Given the description of an element on the screen output the (x, y) to click on. 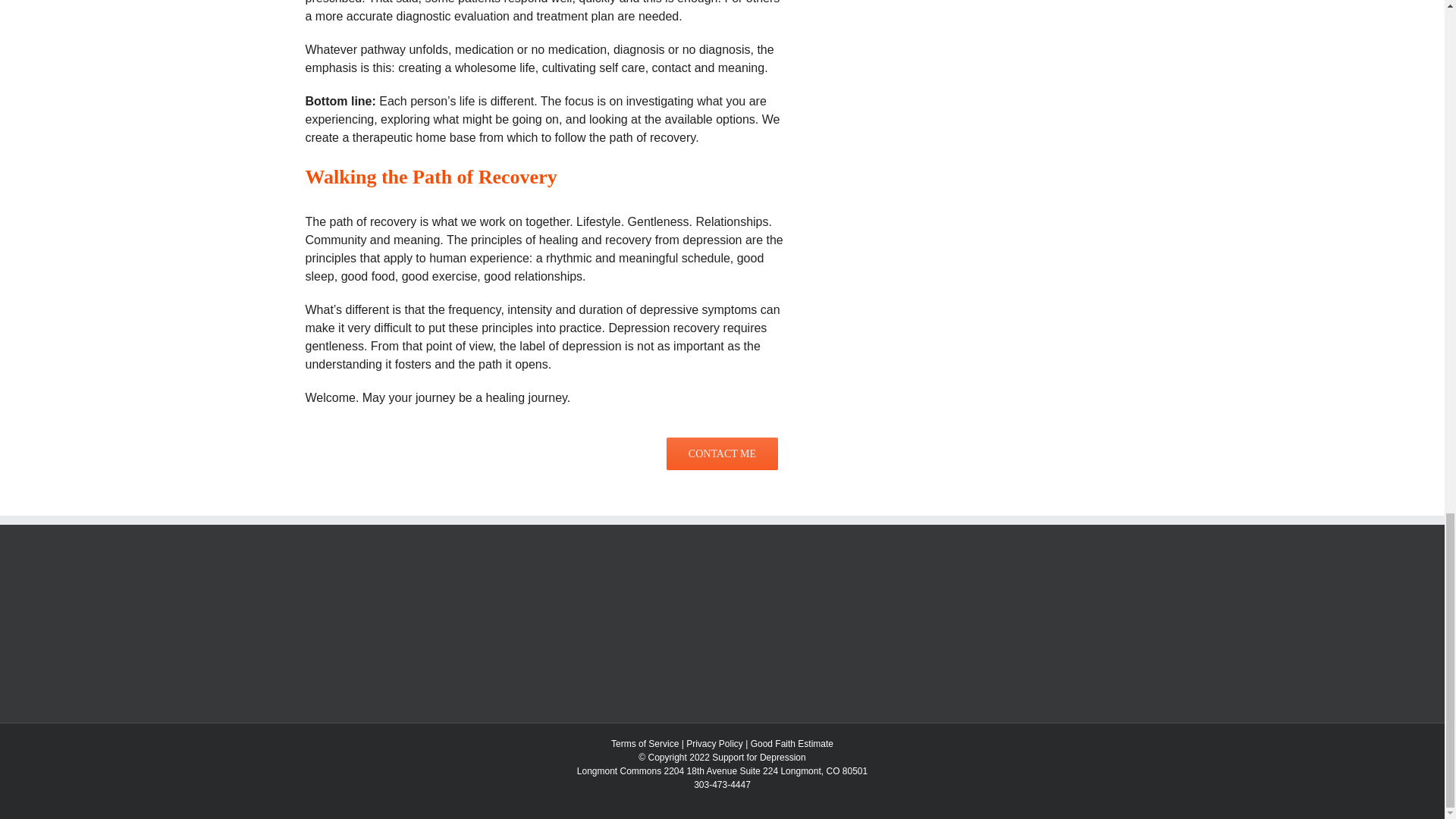
Terms of Service (644, 743)
CONTACT ME (721, 461)
Good Faith Estimate (791, 743)
YouTube video player 1 (1030, 61)
verified by Psychology Today (359, 577)
Privacy Policy (713, 743)
CONTACT ME (721, 453)
